Given the description of an element on the screen output the (x, y) to click on. 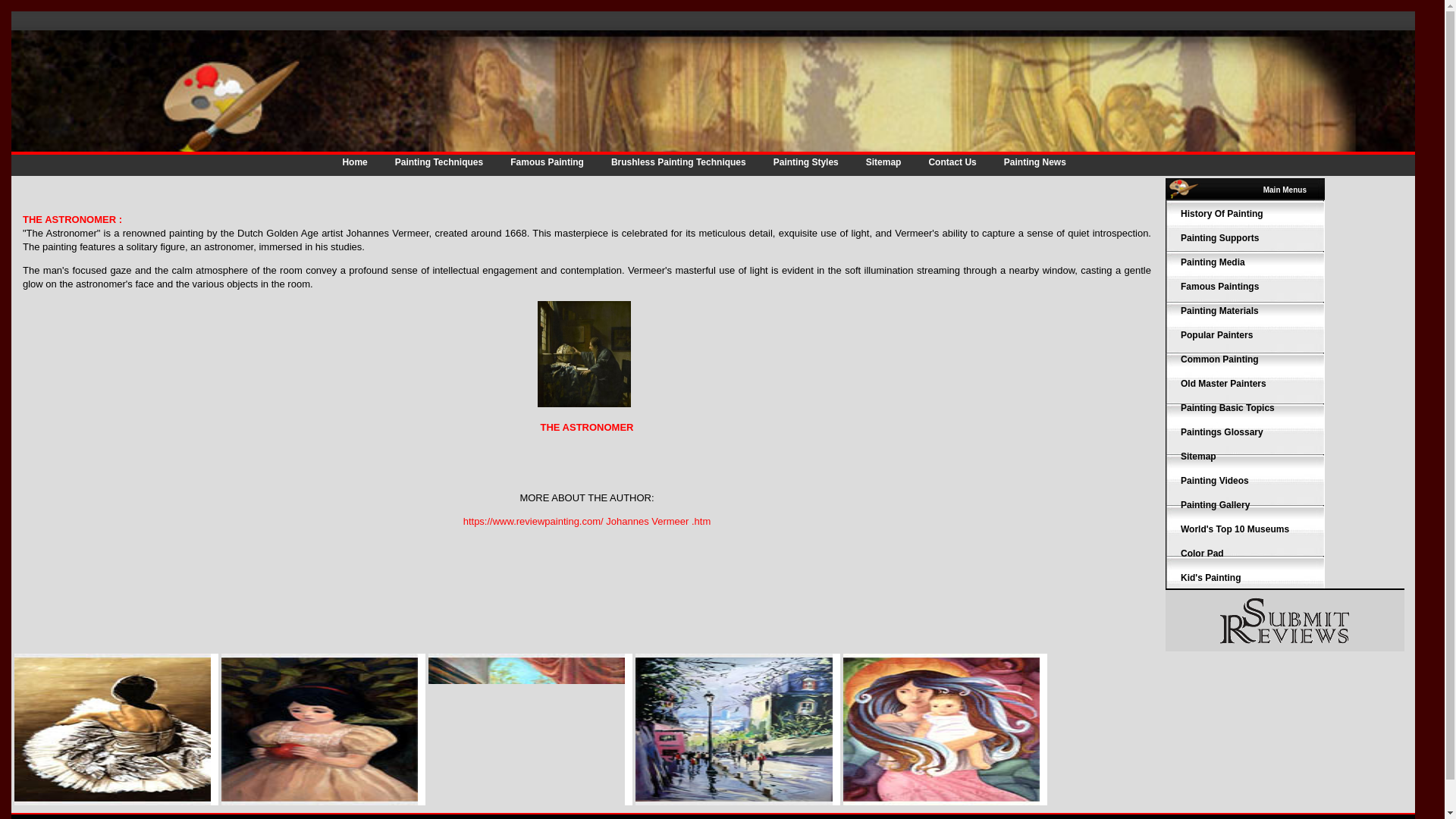
Sitemap (883, 161)
Painting Styles (805, 161)
Review painting home page (354, 161)
History of Paintings (1221, 213)
Painting Techniques (438, 161)
World's Top 10 Museums (1234, 529)
the astronmer (585, 403)
Kid's Painting (1210, 577)
Common Painting (1219, 358)
Reviewpainting contact information (951, 161)
Contact Us (951, 161)
Painting Styles (805, 161)
Painting Basic Topics (1227, 407)
Sitemap (1197, 456)
Famous Painting (546, 161)
